Given the description of an element on the screen output the (x, y) to click on. 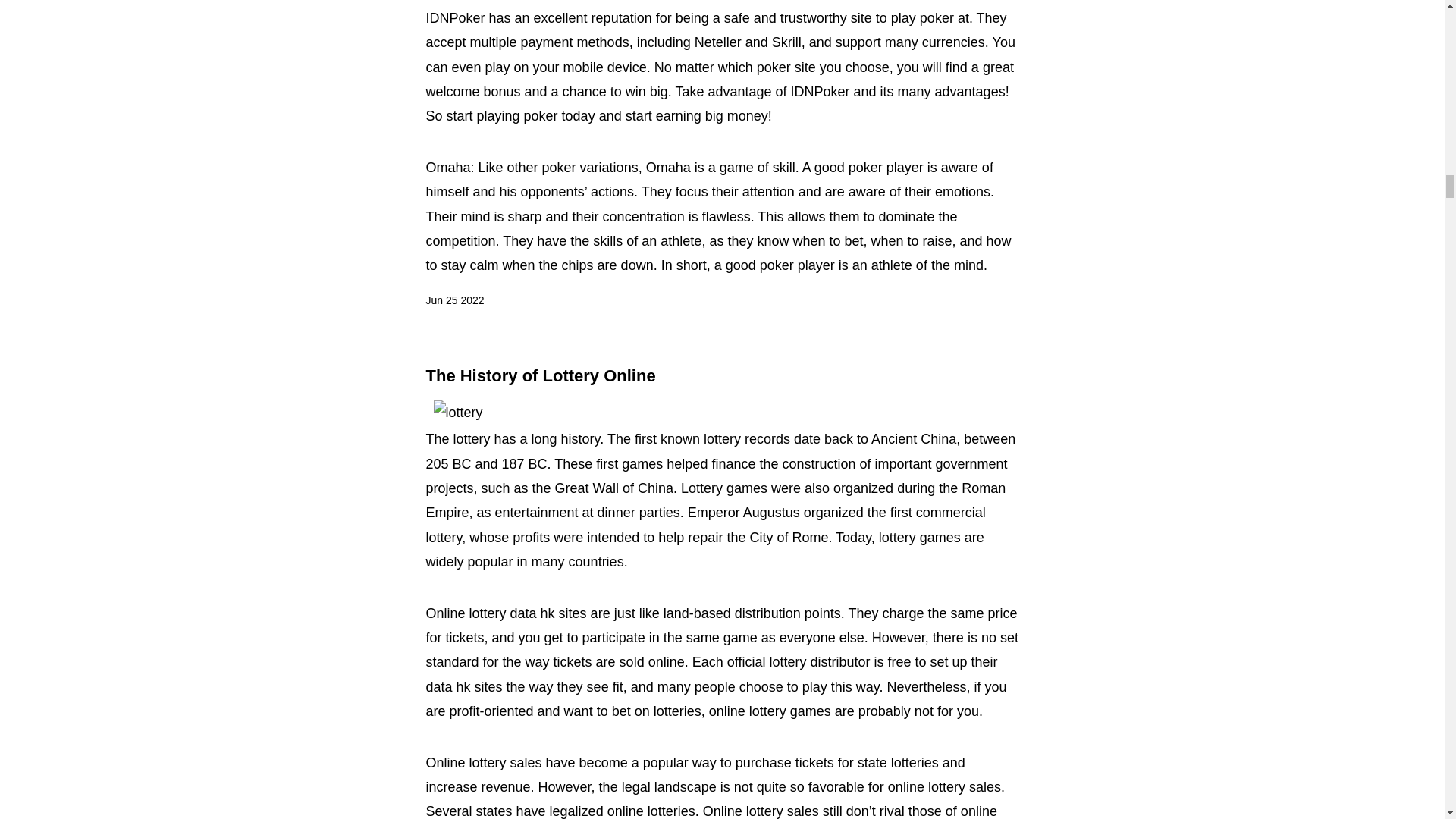
The History of Lottery Online (541, 375)
Jun 25 2022 (455, 301)
